Given the description of an element on the screen output the (x, y) to click on. 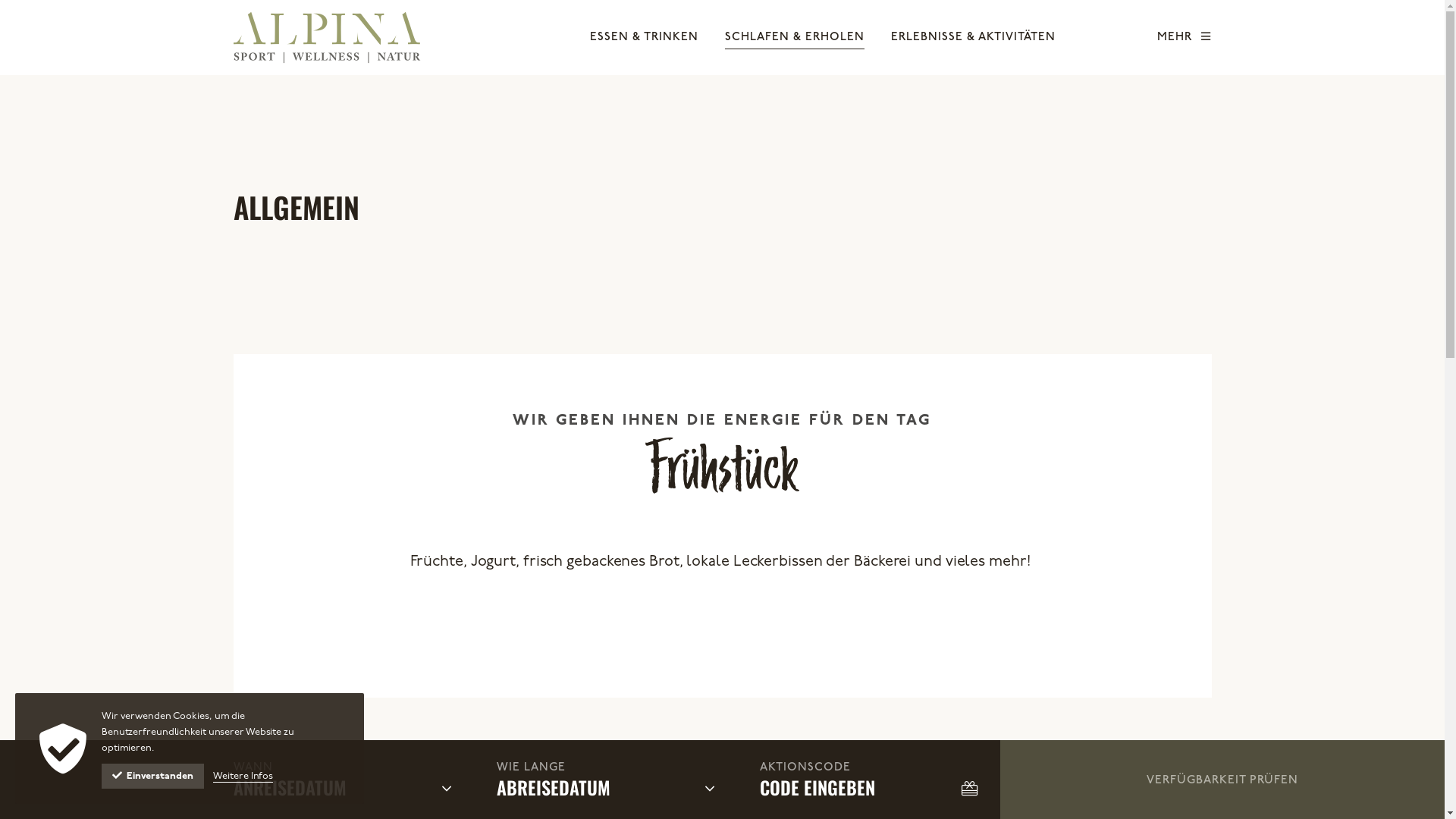
ESSEN & TRINKEN Element type: text (643, 37)
Weitere Infos Element type: text (236, 776)
Einverstanden Element type: text (149, 775)
MEHR Element type: text (1184, 37)
SCHLAFEN & ERHOLEN Element type: text (794, 37)
